Given the description of an element on the screen output the (x, y) to click on. 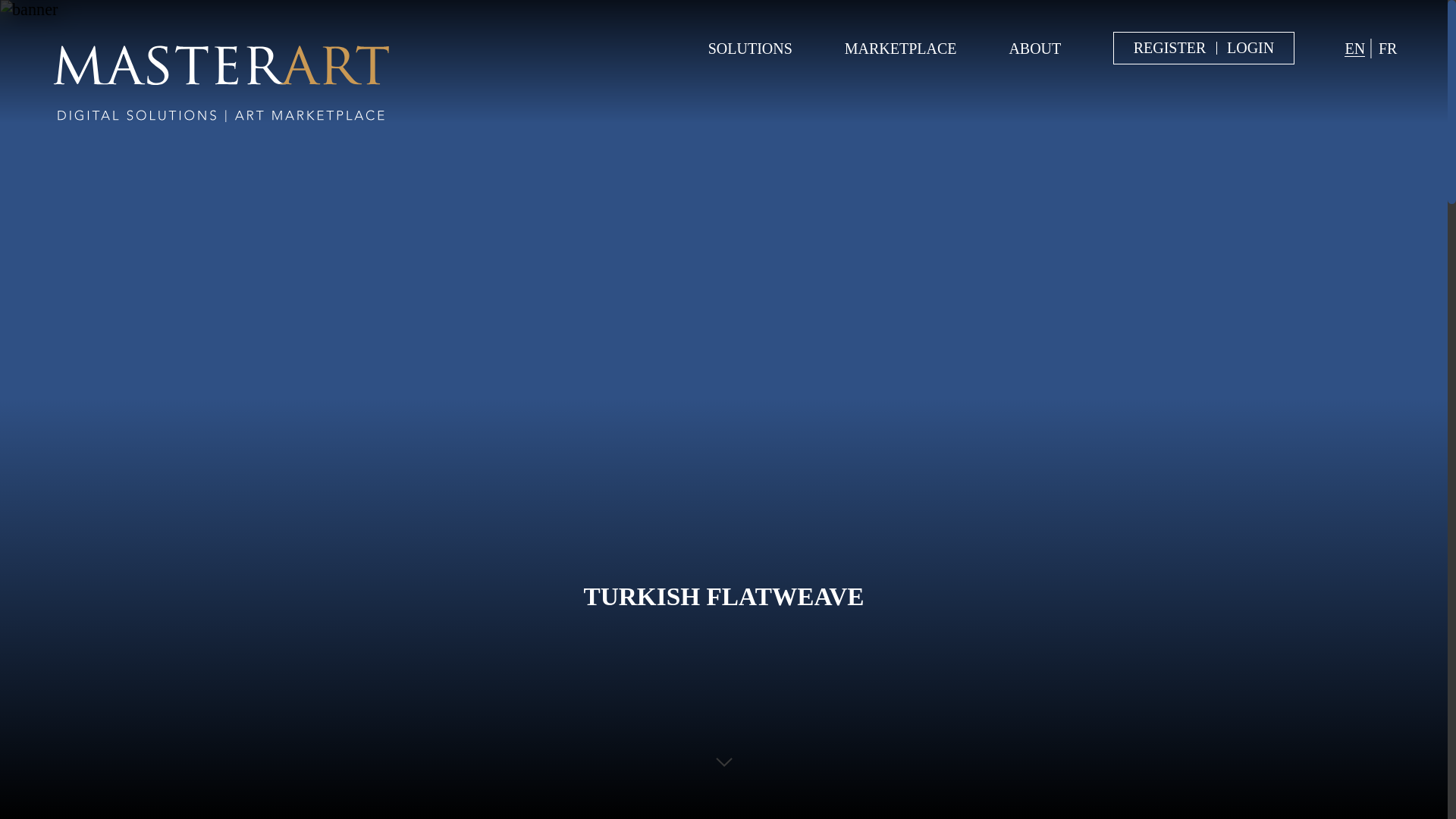
MARKETPLACE (900, 48)
EN (1354, 48)
SOLUTIONS (749, 48)
LOGIN (1250, 47)
ABOUT (1035, 48)
REGISTER (1170, 47)
FR (1387, 48)
